Given the description of an element on the screen output the (x, y) to click on. 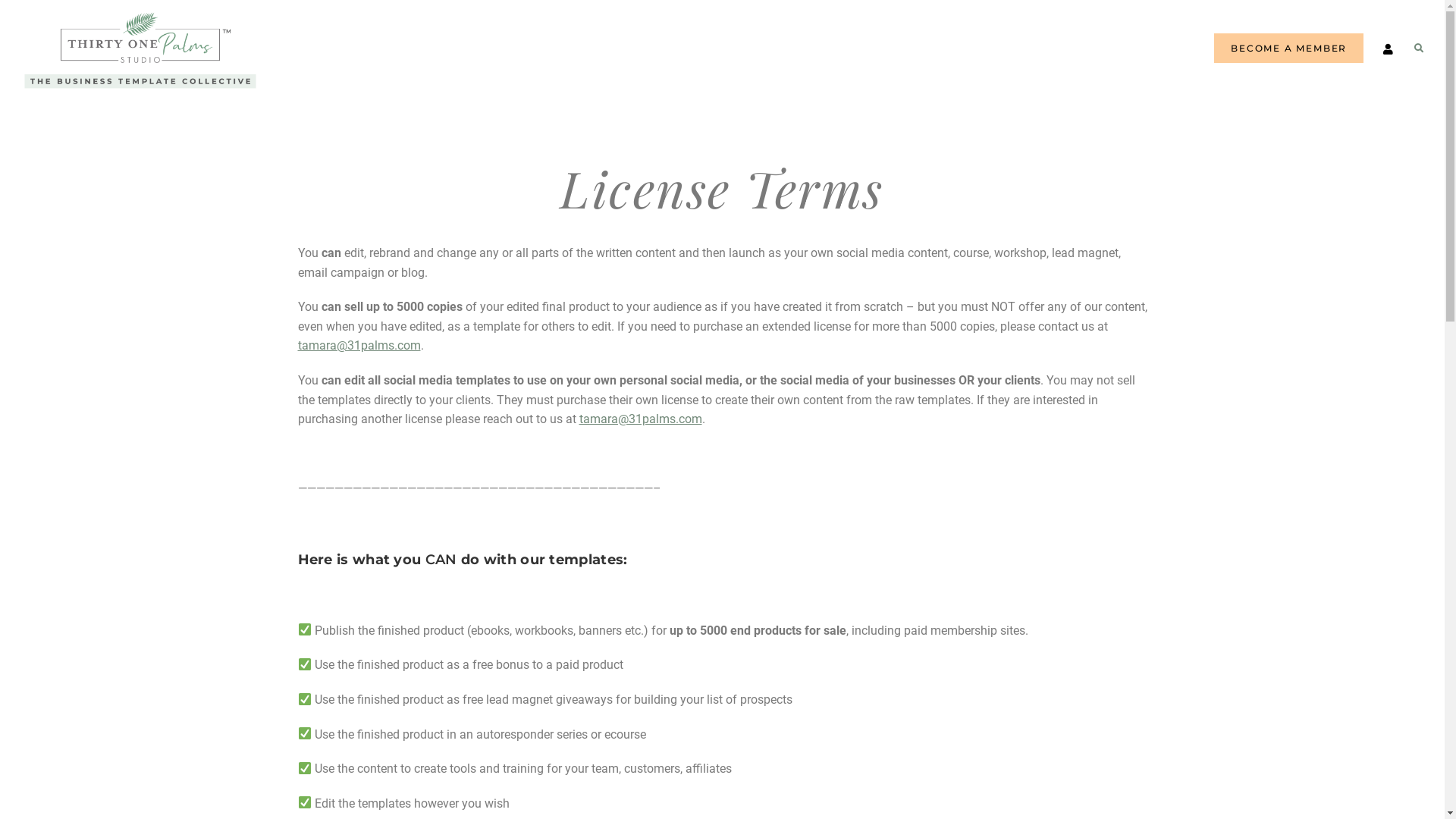
tamara@31palms.com Element type: text (640, 418)
BECOME A MEMBER Element type: text (1288, 48)
tamara@31palms.com Element type: text (358, 345)
